Given the description of an element on the screen output the (x, y) to click on. 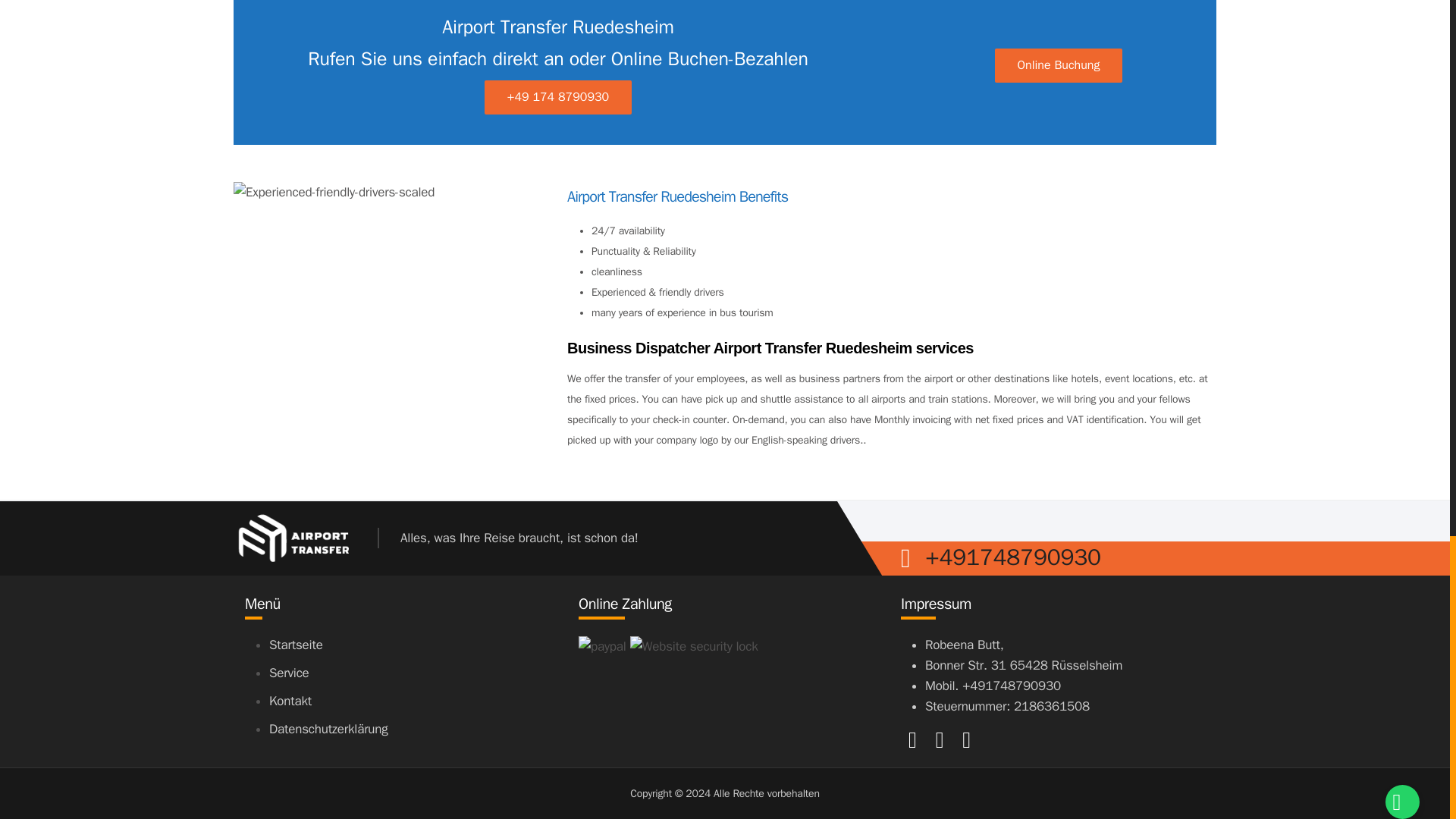
Online Buchung (1058, 65)
Kontakt (290, 700)
Service (288, 672)
Startseite (296, 644)
